Given the description of an element on the screen output the (x, y) to click on. 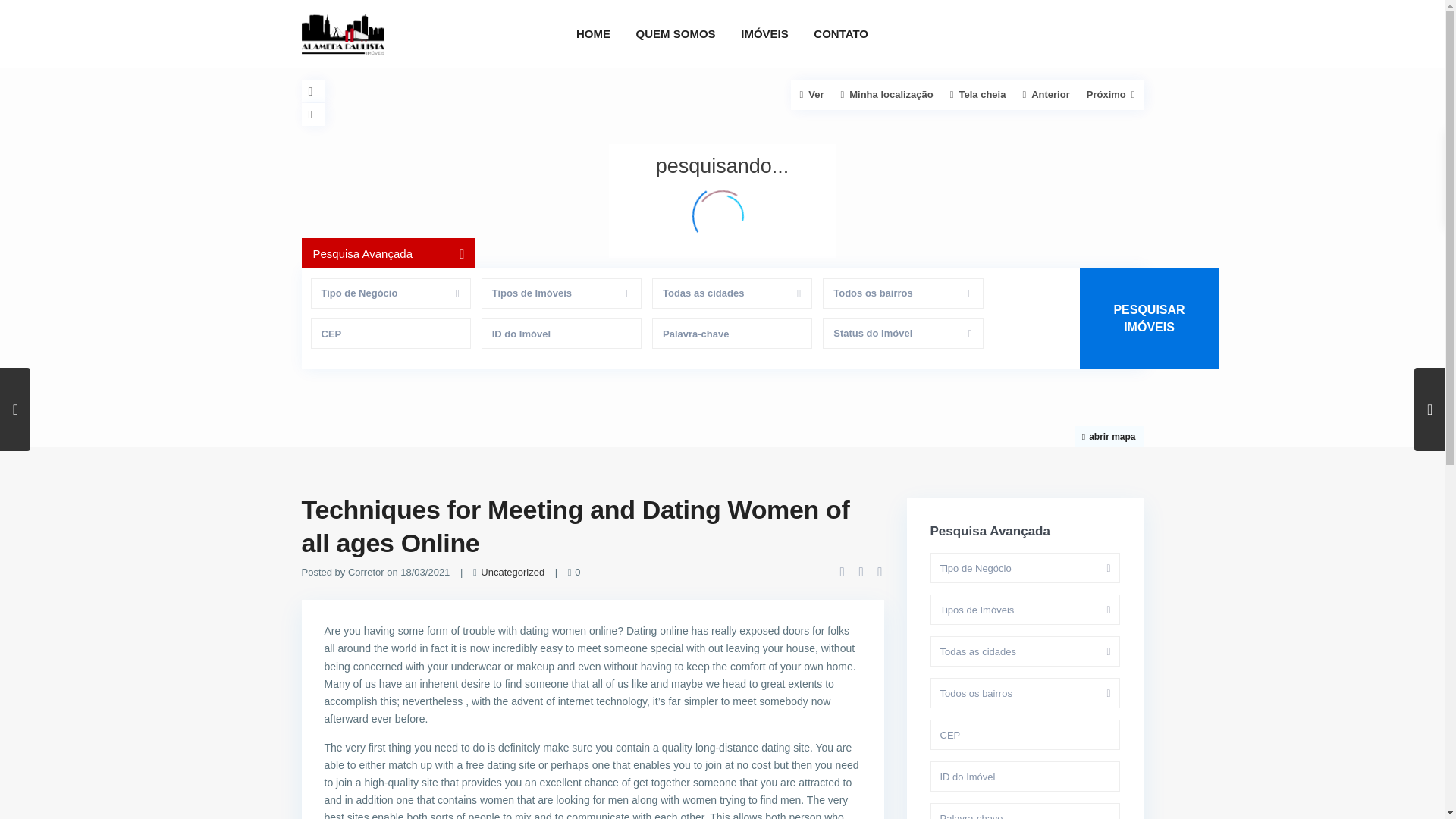
QUEM SOMOS (675, 33)
CONTATO (840, 33)
Uncategorized (512, 572)
